Given the description of an element on the screen output the (x, y) to click on. 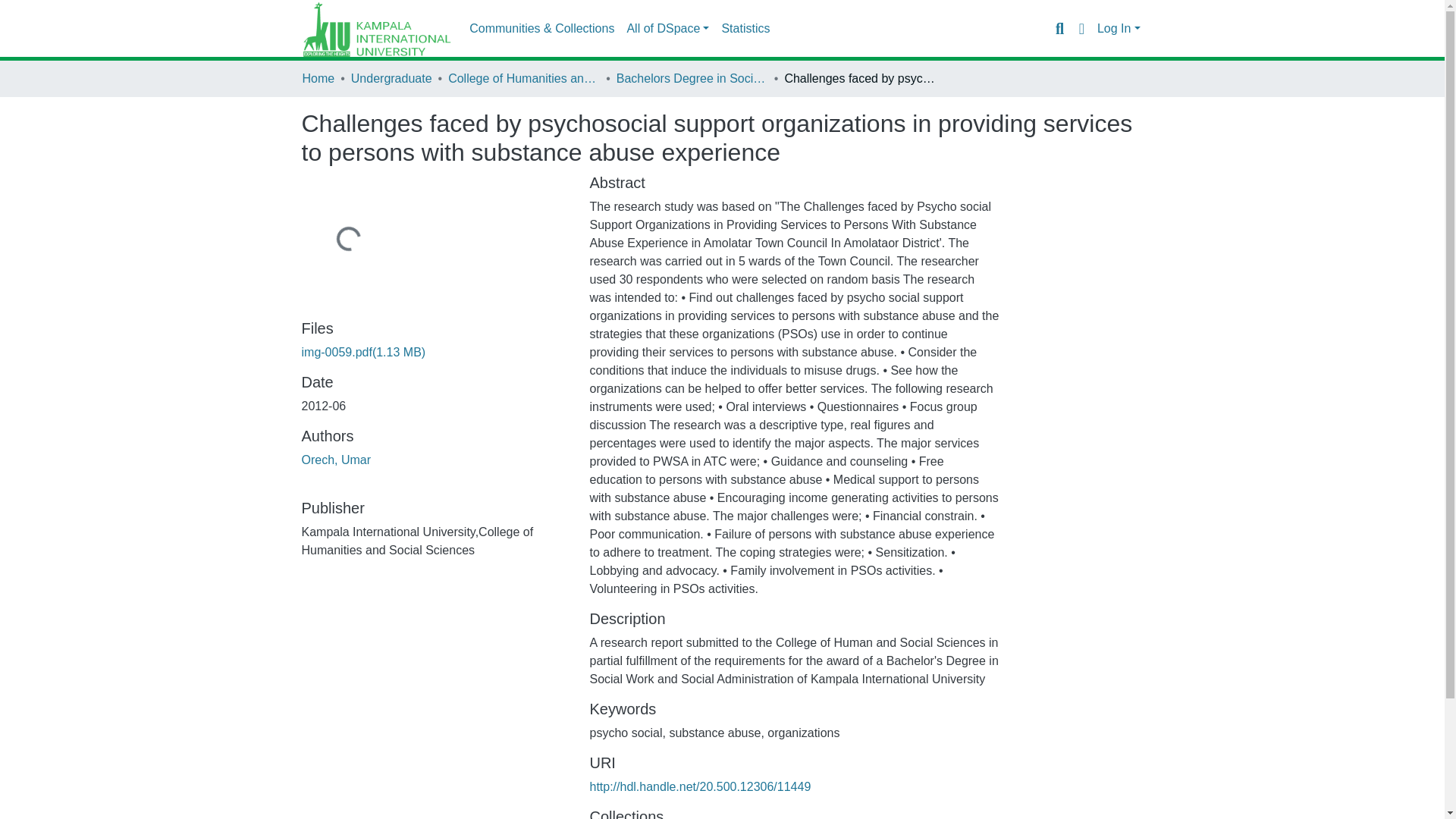
Home (317, 78)
Bachelors Degree in Social Work and Social Administration (691, 78)
Statistics (745, 28)
Undergraduate (391, 78)
Language switch (1081, 28)
College of Humanities and Social Sciences (523, 78)
All of DSpace (667, 28)
Orech, Umar (336, 459)
Log In (1118, 28)
Search (1058, 28)
